Given the description of an element on the screen output the (x, y) to click on. 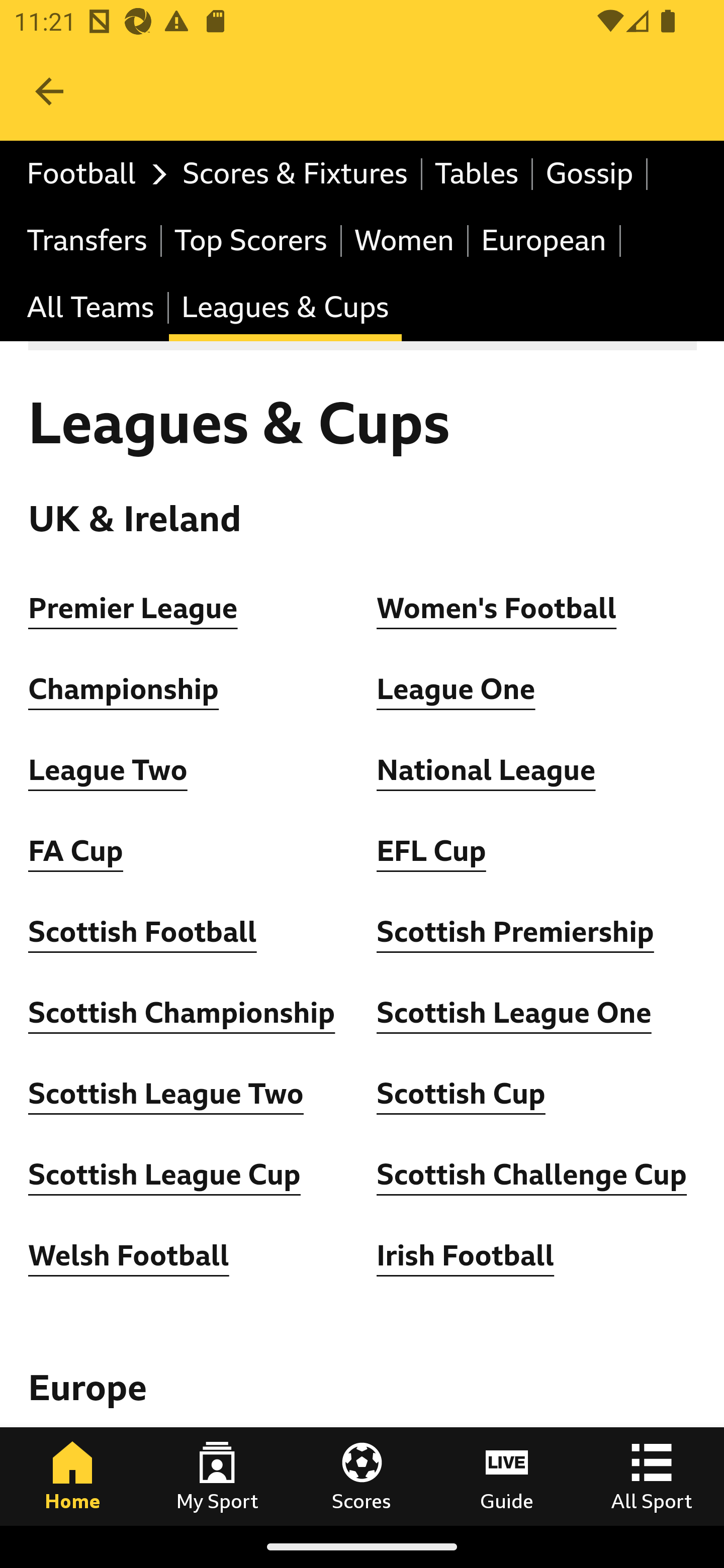
Navigate up (49, 91)
Football (91, 173)
Scores & Fixtures (295, 173)
Tables (477, 173)
Gossip (590, 173)
Transfers (88, 240)
Top Scorers (251, 240)
Women (405, 240)
European (544, 240)
All Teams (91, 308)
Leagues & Cups (284, 308)
Premier League (133, 608)
Women's Football (496, 608)
Championship (123, 689)
League One (456, 689)
League Two (108, 770)
National League (486, 770)
FA Cup (75, 851)
EFL Cup (431, 851)
Scottish Football (142, 932)
Scottish Premiership (515, 932)
Scottish Championship (181, 1012)
Scottish League One (514, 1012)
Scottish League Two (166, 1094)
Scottish Cup (460, 1094)
Scottish League Cup (164, 1175)
Scottish Challenge Cup (531, 1175)
Welsh Football (129, 1255)
Irish Football (466, 1255)
My Sport (216, 1475)
Scores (361, 1475)
Guide (506, 1475)
All Sport (651, 1475)
